Given the description of an element on the screen output the (x, y) to click on. 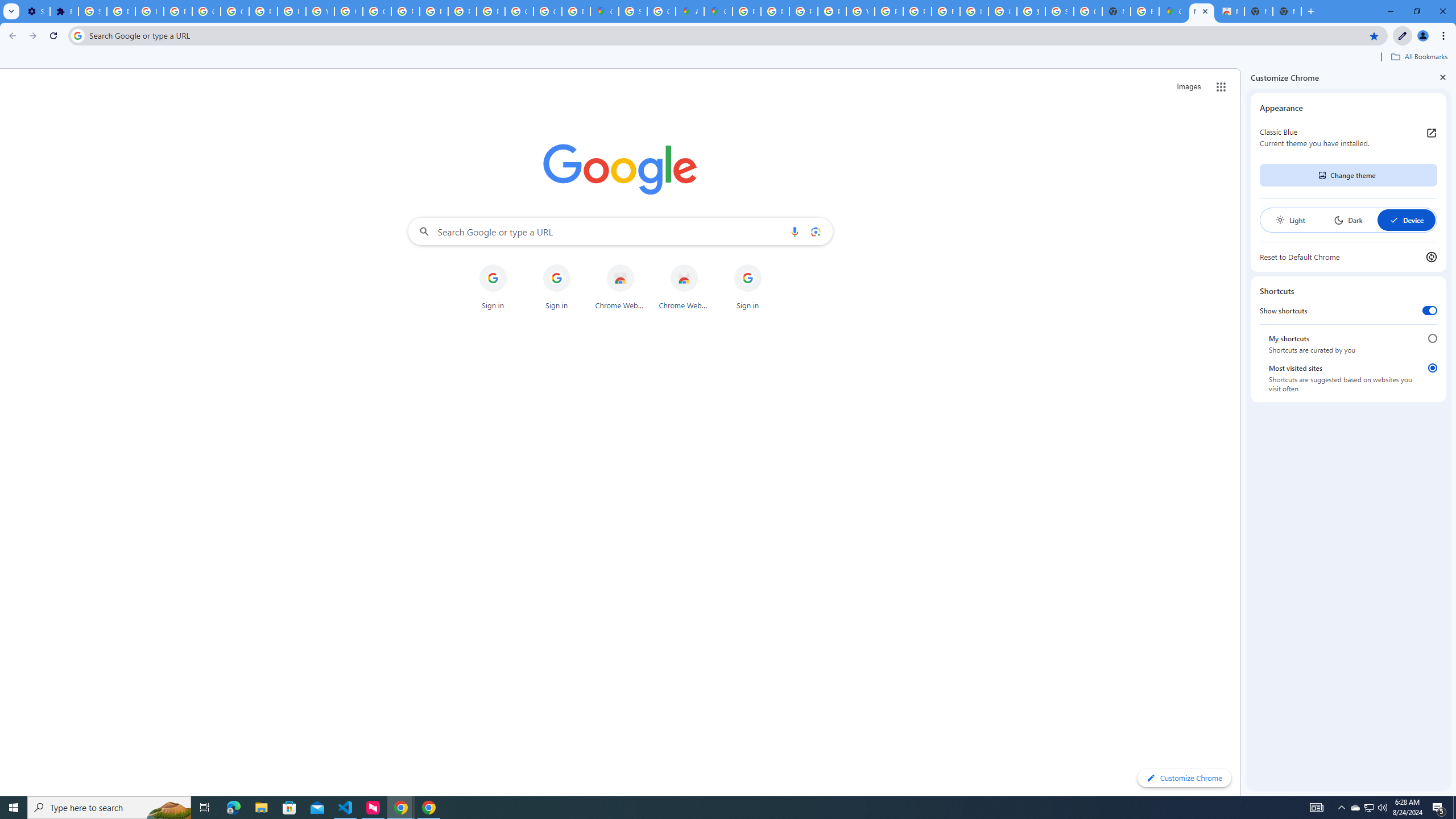
https://scholar.google.com/ (348, 11)
Search by voice (794, 230)
Remove (769, 265)
Sign in - Google Accounts (632, 11)
